Given the description of an element on the screen output the (x, y) to click on. 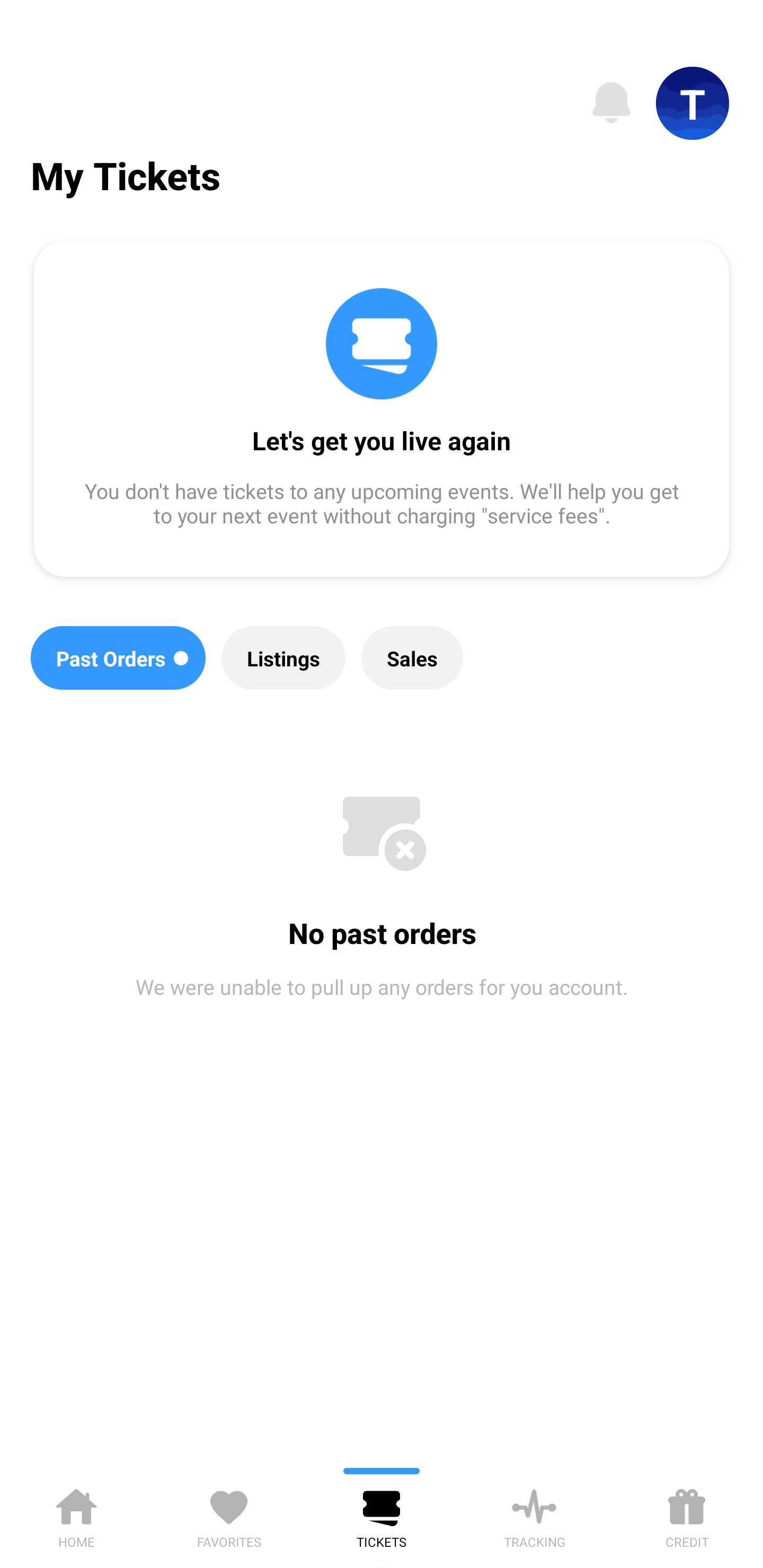
T (692, 103)
Past Orders (117, 657)
Listings (283, 657)
Sales (412, 657)
HOME (76, 1515)
FAVORITES (228, 1515)
TICKETS (381, 1515)
TRACKING (533, 1515)
CREDIT (686, 1515)
